Given the description of an element on the screen output the (x, y) to click on. 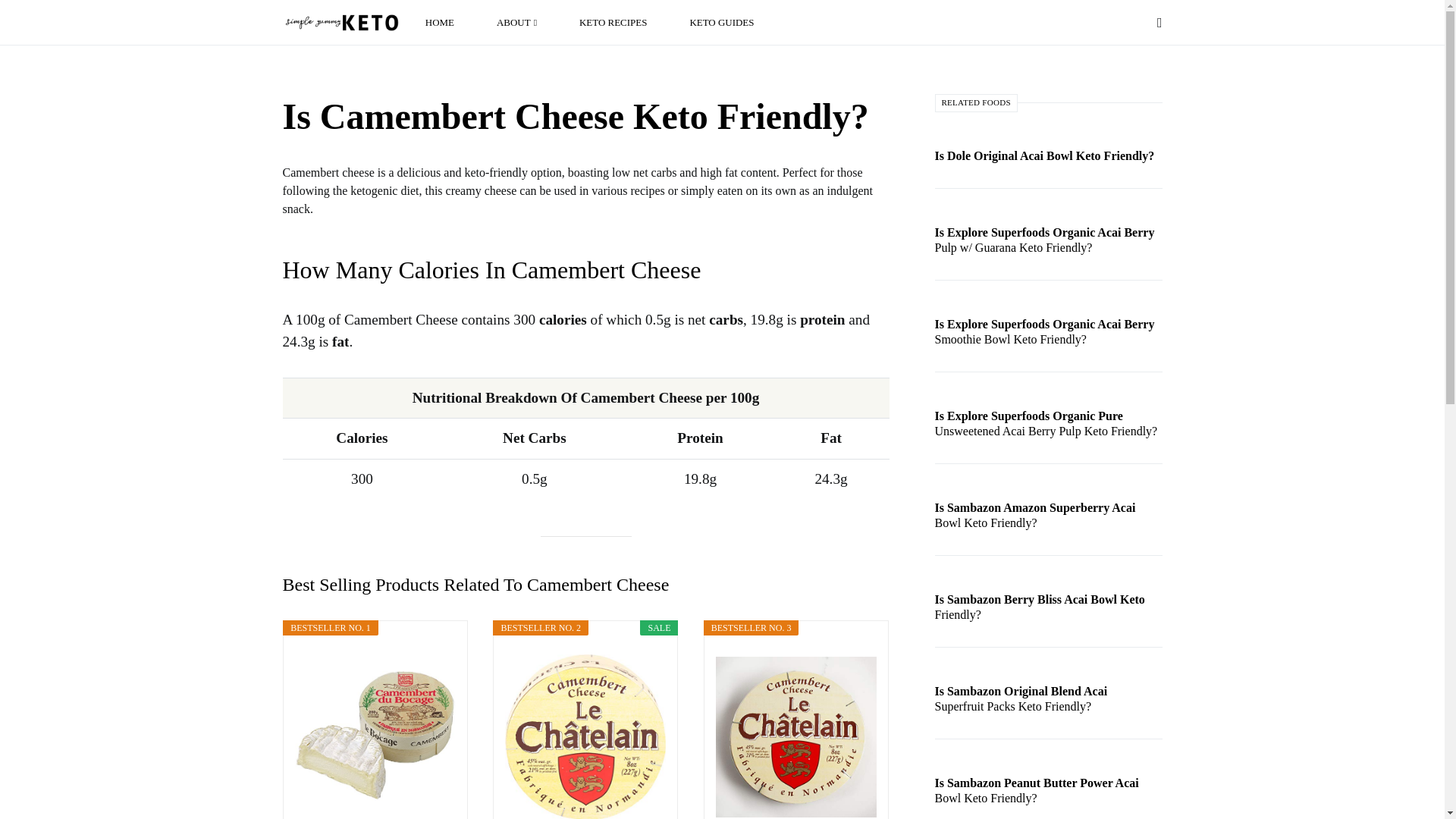
KETO GUIDES (716, 22)
Is Sambazon Berry Bliss Acai Bowl Keto Friendly? (1047, 614)
Is Dole Original Acai Bowl Keto Friendly? (1047, 155)
Is Dole Original Acai Bowl Keto Friendly? (1047, 155)
KETO RECIPES (613, 22)
ABOUT (516, 22)
Is Sambazon Peanut Butter Power Acai Bowl Keto Friendly? (1047, 797)
Is Sambazon Amazon Superberry Acai Bowl Keto Friendly? (1047, 522)
